Given the description of an element on the screen output the (x, y) to click on. 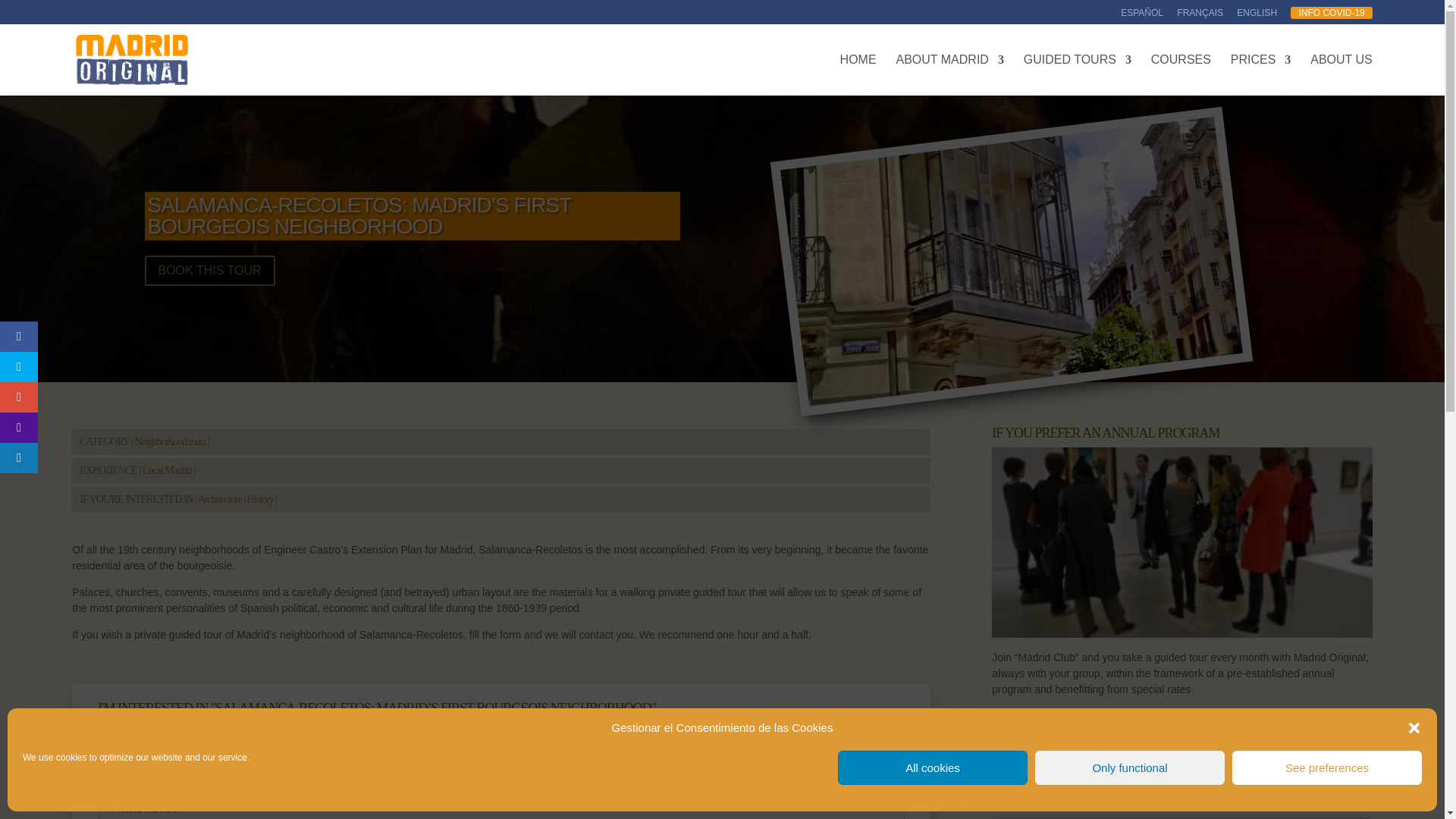
COURSES (1181, 74)
All cookies (932, 767)
All Categories (1181, 772)
ABOUT MADRID (950, 74)
See preferences (1326, 767)
ENGLISH (1256, 16)
HOME (858, 74)
GUIDED TOURS (1077, 74)
INFO COVID-19 (1330, 12)
Only functional (1129, 767)
